Given the description of an element on the screen output the (x, y) to click on. 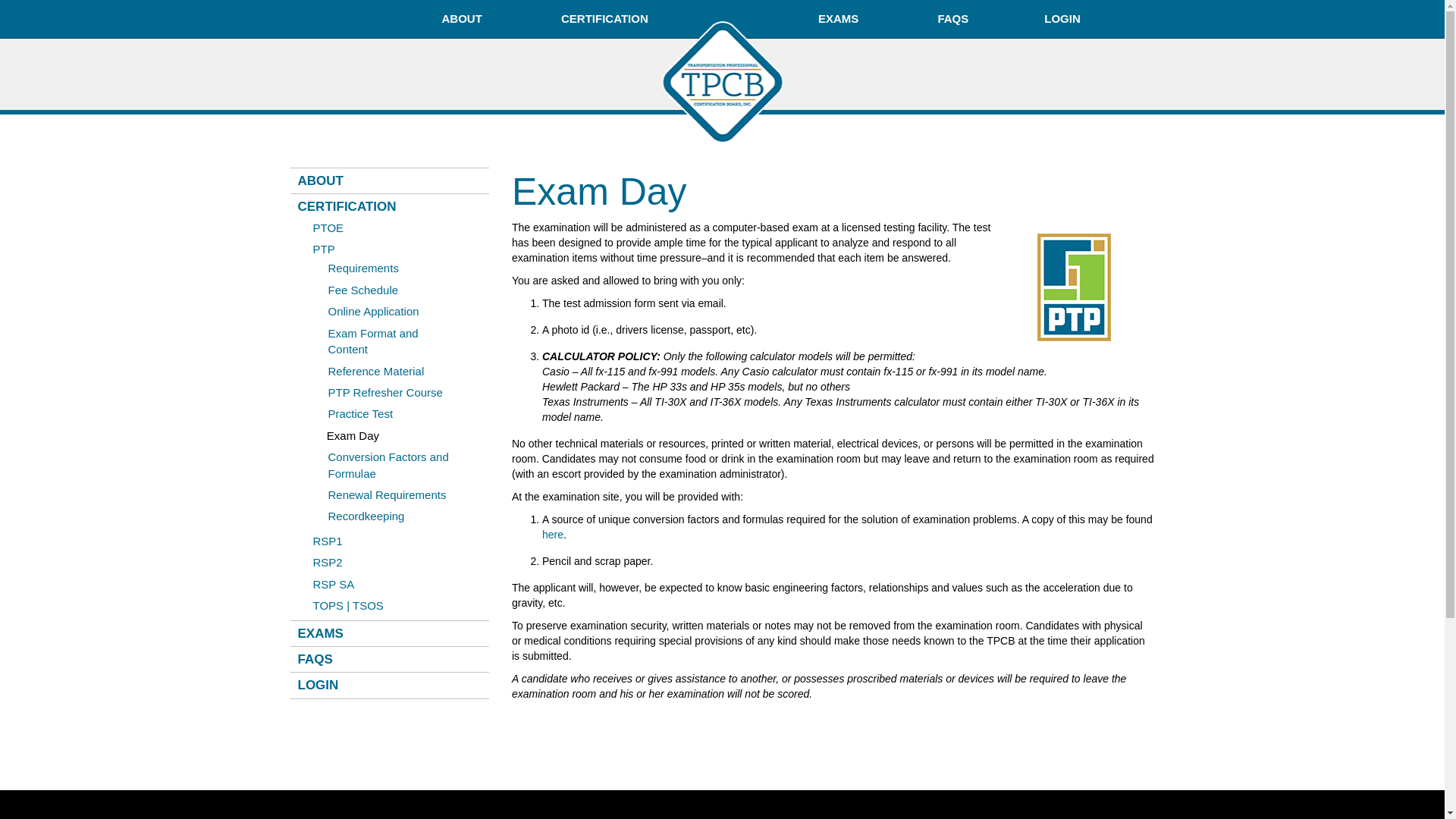
CERTIFICATION  (605, 18)
ABOUT  (462, 18)
Practice Test (360, 413)
Online Application (373, 310)
Conversion Factors and Formulae (387, 464)
Requirements (362, 267)
Fee Schedule (362, 289)
PTOE (328, 227)
RSP1 (327, 540)
RSP2 (327, 562)
